Given the description of an element on the screen output the (x, y) to click on. 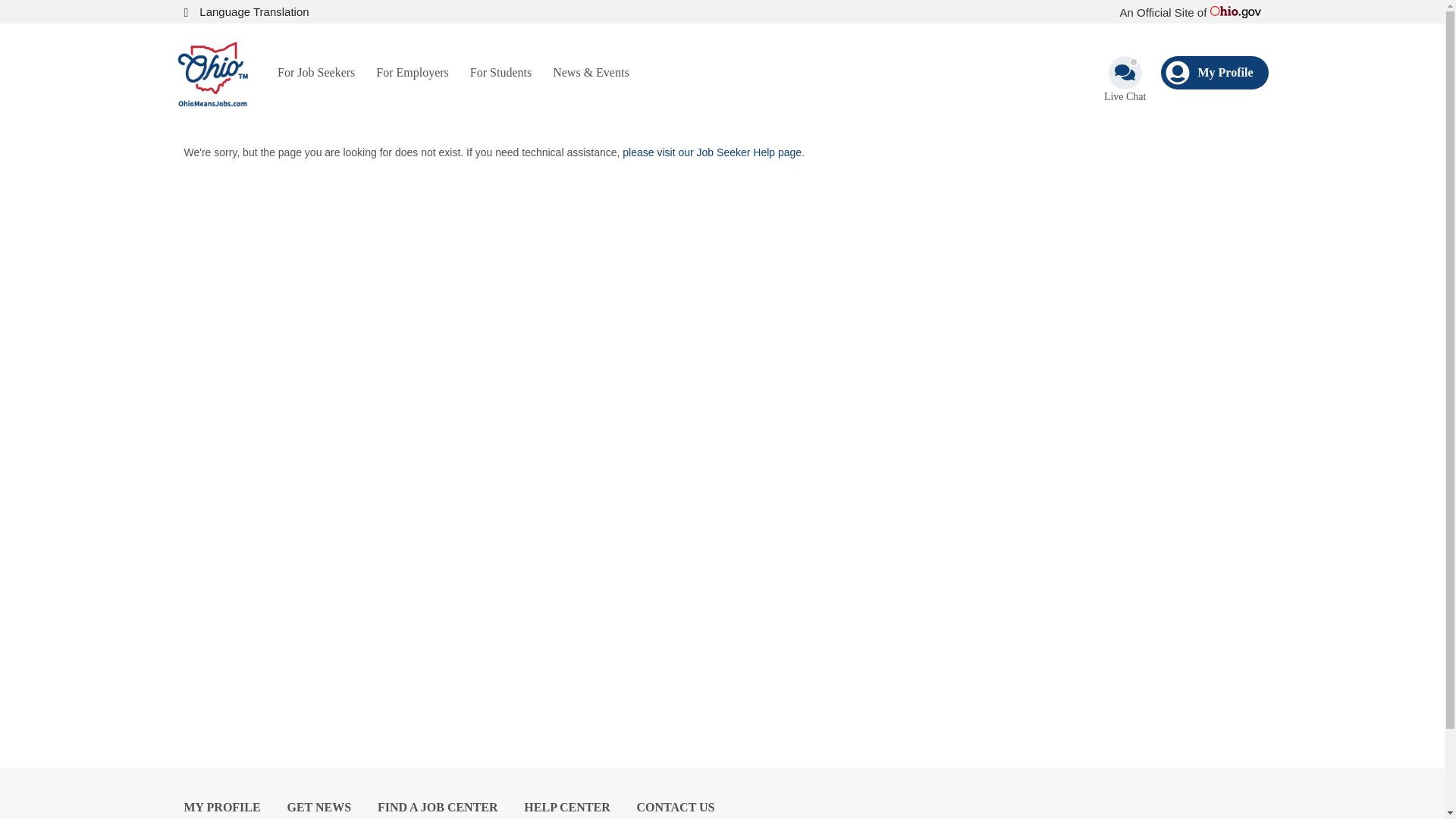
Live Chat (1125, 80)
Contact Us (675, 807)
Help Center (567, 807)
An Official Site of (1189, 11)
News (318, 807)
My Profile (1214, 72)
My Profile (221, 807)
For Job Seekers (315, 71)
Find a Job Center (437, 807)
